Given the description of an element on the screen output the (x, y) to click on. 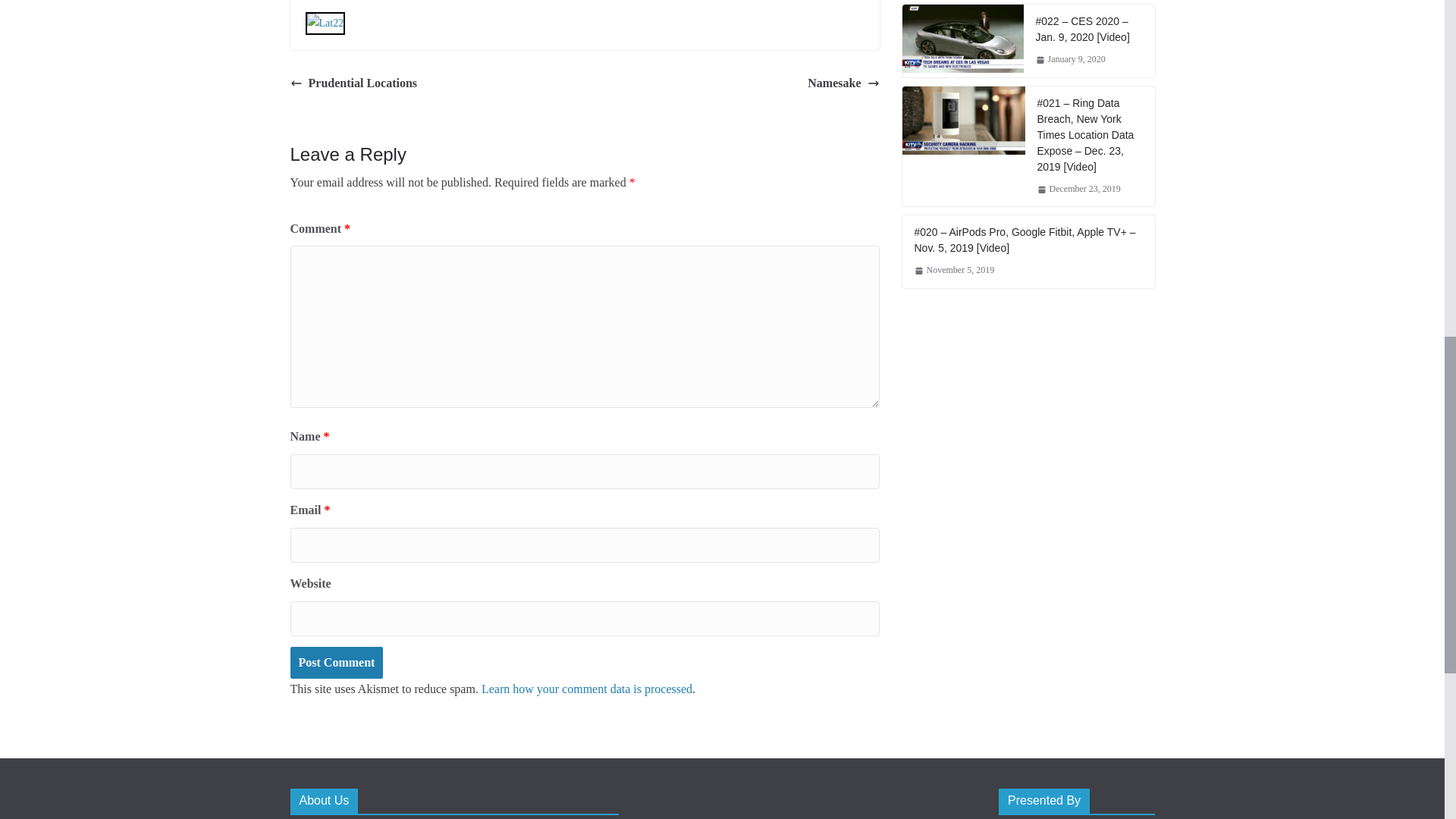
Lat22 (324, 23)
Learn how your comment data is processed (587, 688)
10:05 am (1078, 189)
Post Comment (335, 663)
Namesake (843, 83)
10:41 am (1070, 59)
Post Comment (335, 663)
Prudential Locations (352, 83)
January 9, 2020 (1070, 59)
